Given the description of an element on the screen output the (x, y) to click on. 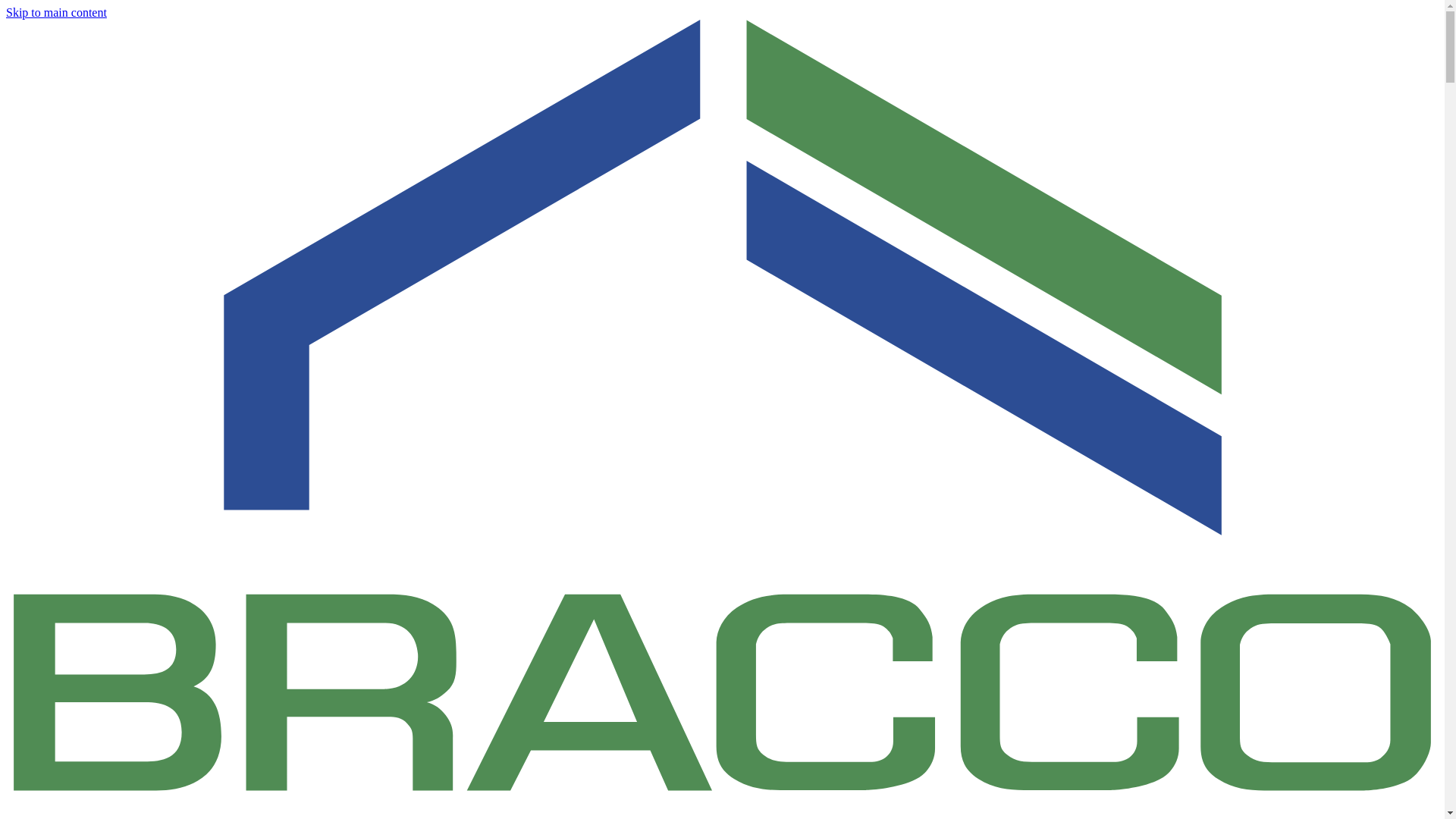
Skip to main content (55, 11)
